Given the description of an element on the screen output the (x, y) to click on. 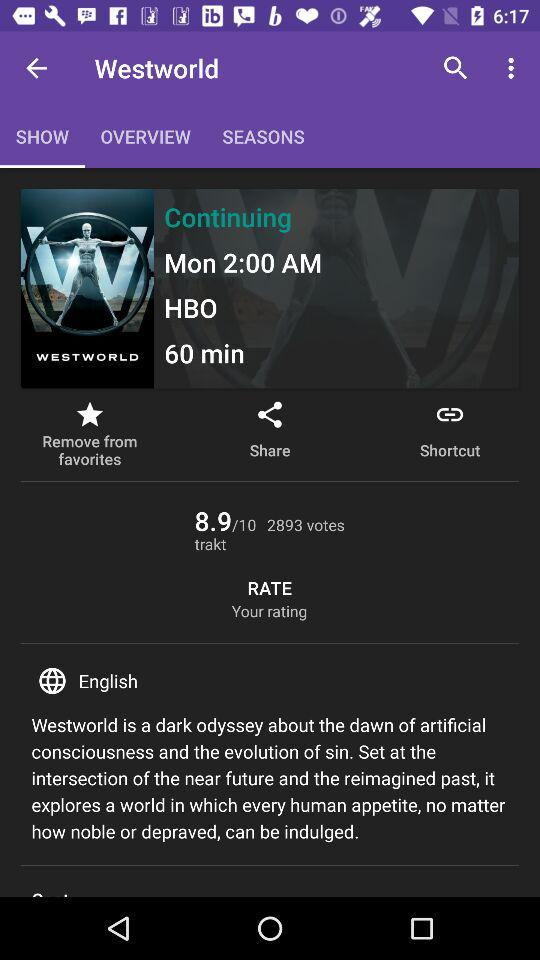
press item to the right of seasons (455, 67)
